Given the description of an element on the screen output the (x, y) to click on. 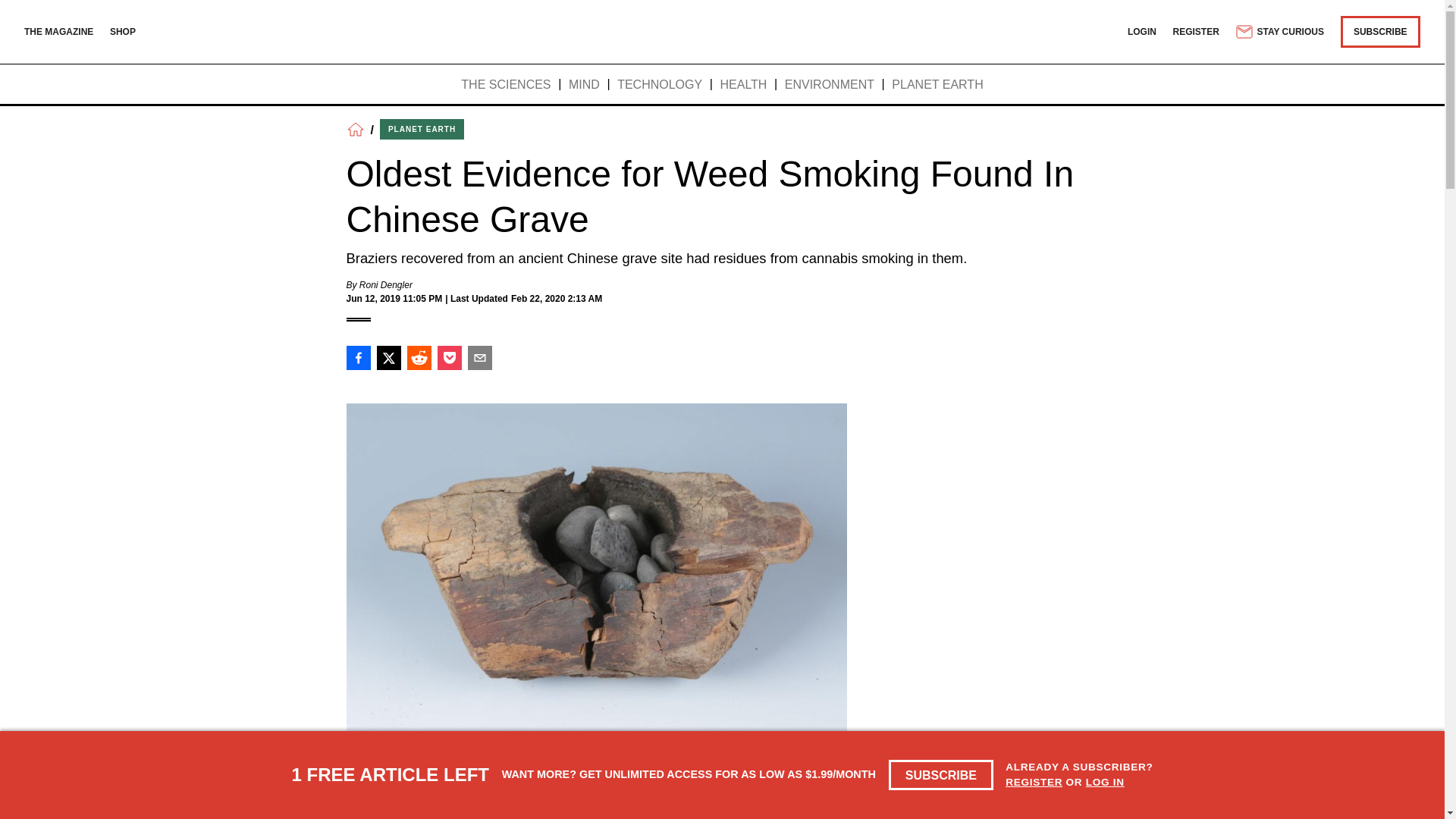
SIGN UP (1063, 810)
PLANET EARTH (422, 128)
MIND (584, 84)
SUBSCRIBE (941, 775)
SHOP (122, 31)
STAY CURIOUS (1278, 31)
LOG IN (1105, 781)
THE MAGAZINE (58, 31)
TECHNOLOGY (659, 84)
PLANET EARTH (936, 84)
HEALTH (743, 84)
Roni Dengler (385, 285)
REGISTER (1196, 31)
REGISTER (1034, 781)
SUBSCRIBE (1380, 31)
